Given the description of an element on the screen output the (x, y) to click on. 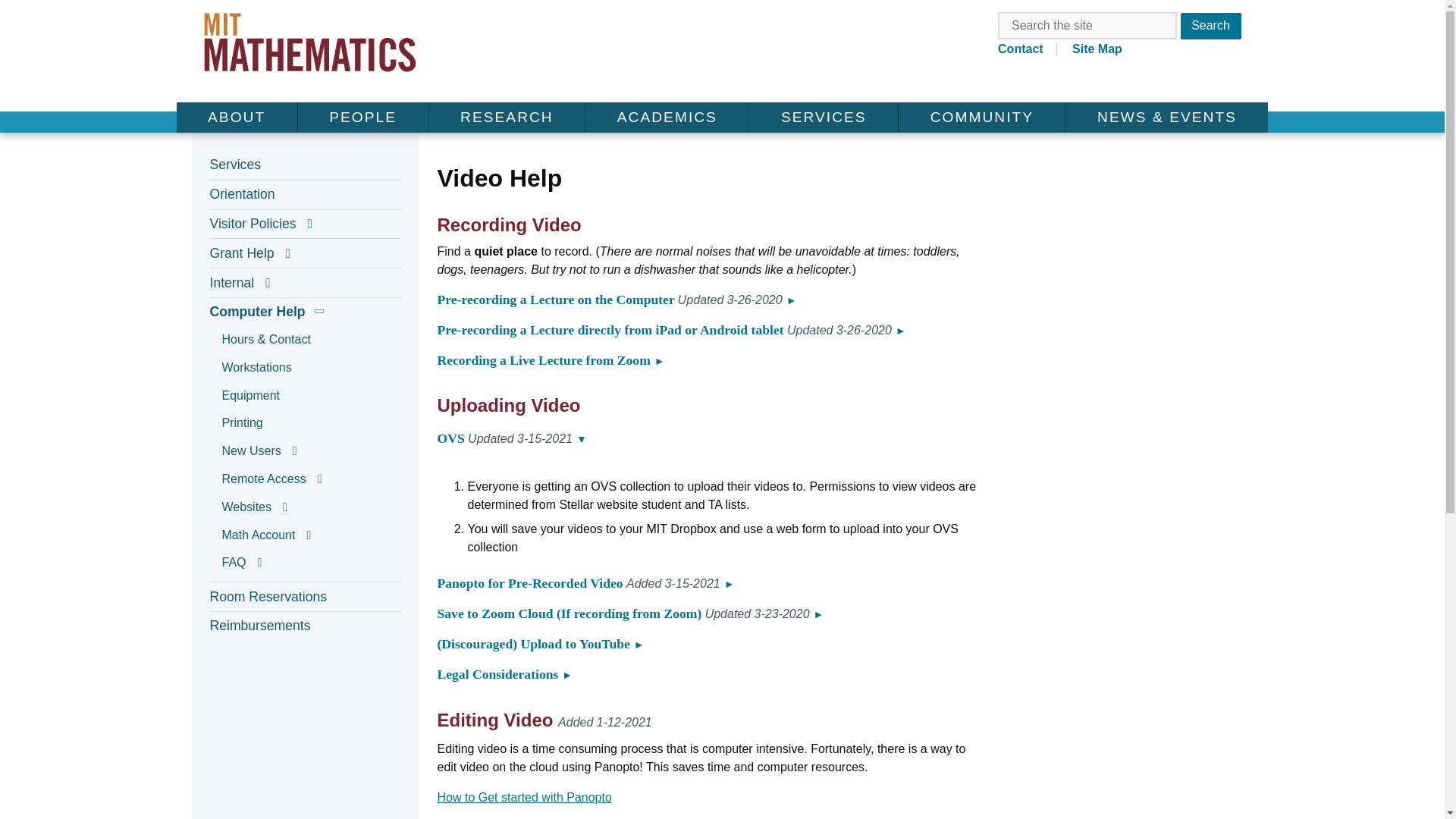
PEOPLE (362, 117)
Search (1209, 25)
Site Map (1096, 49)
ACADEMICS (666, 117)
Contact (1027, 49)
ABOUT (236, 117)
Search (1209, 25)
SERVICES (823, 117)
RESEARCH (506, 117)
